Given the description of an element on the screen output the (x, y) to click on. 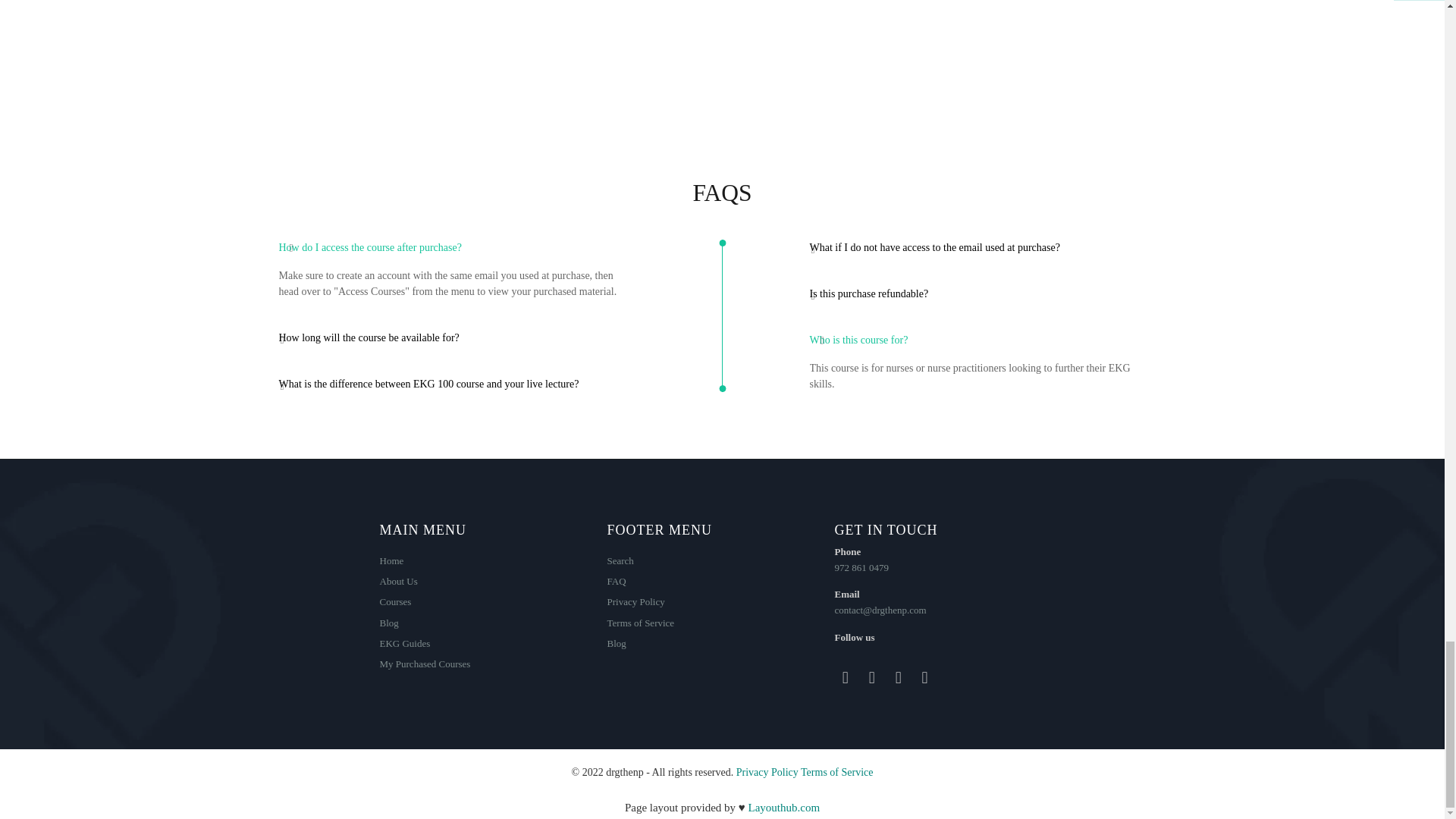
DrGtheNP on Facebook (845, 678)
Email DrGtheNP (925, 678)
DrGtheNP on LinkedIn (898, 678)
DrGtheNP on Instagram (871, 678)
tel:972 861 0479 (861, 567)
